Given the description of an element on the screen output the (x, y) to click on. 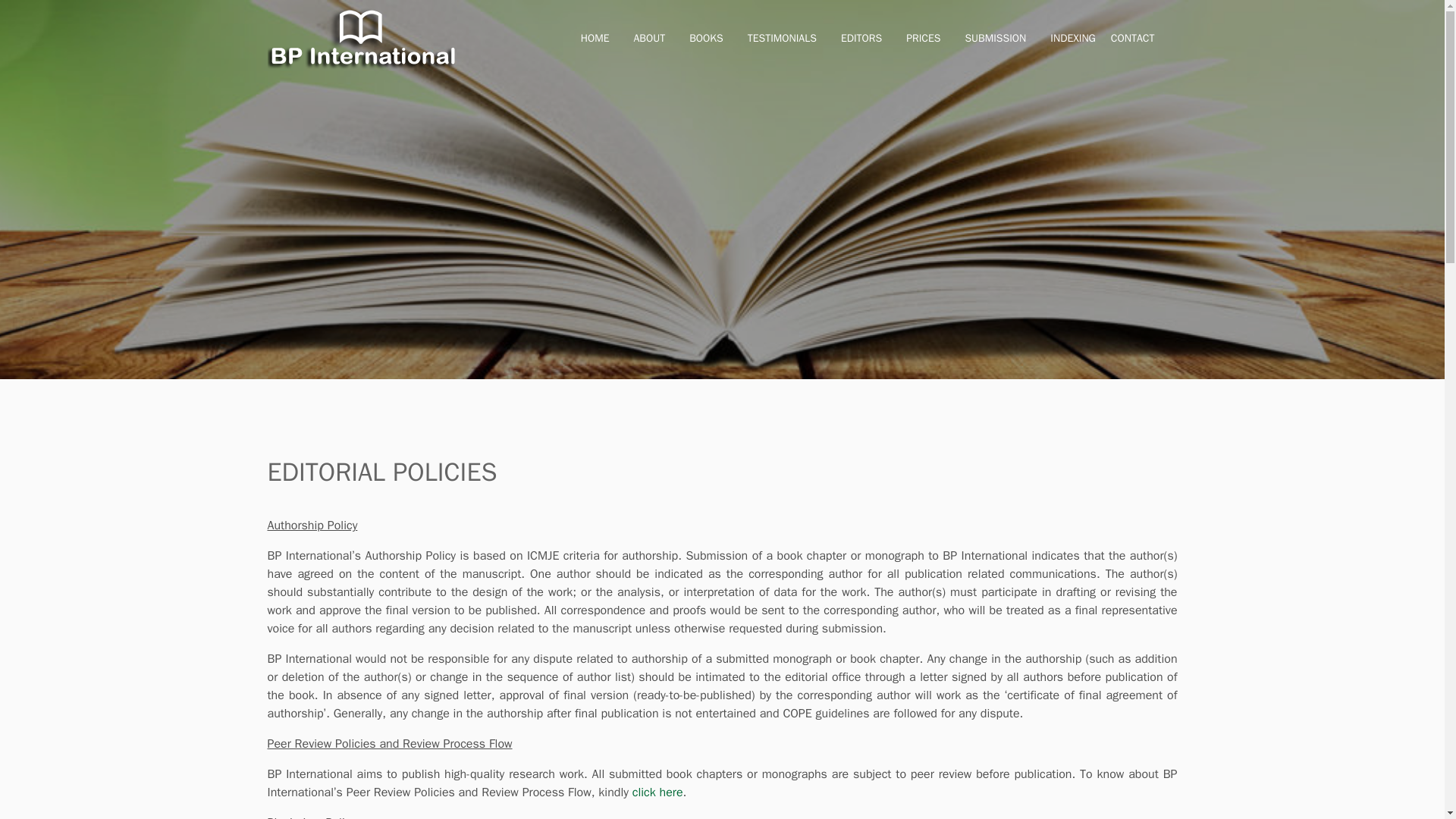
CONTACT (1132, 38)
ABOUT (649, 38)
TESTIMONIALS (782, 38)
PRICES (922, 38)
BOOKS (705, 38)
INDEXING (1072, 38)
EDITORS (861, 38)
SUBMISSION (994, 38)
click here (656, 792)
